Given the description of an element on the screen output the (x, y) to click on. 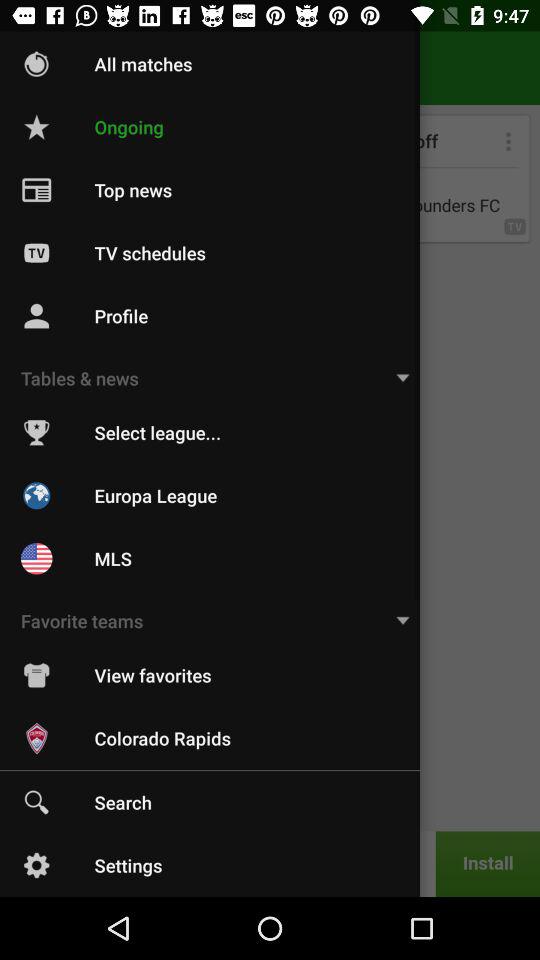
click on the icon left to mls (36, 559)
